Given the description of an element on the screen output the (x, y) to click on. 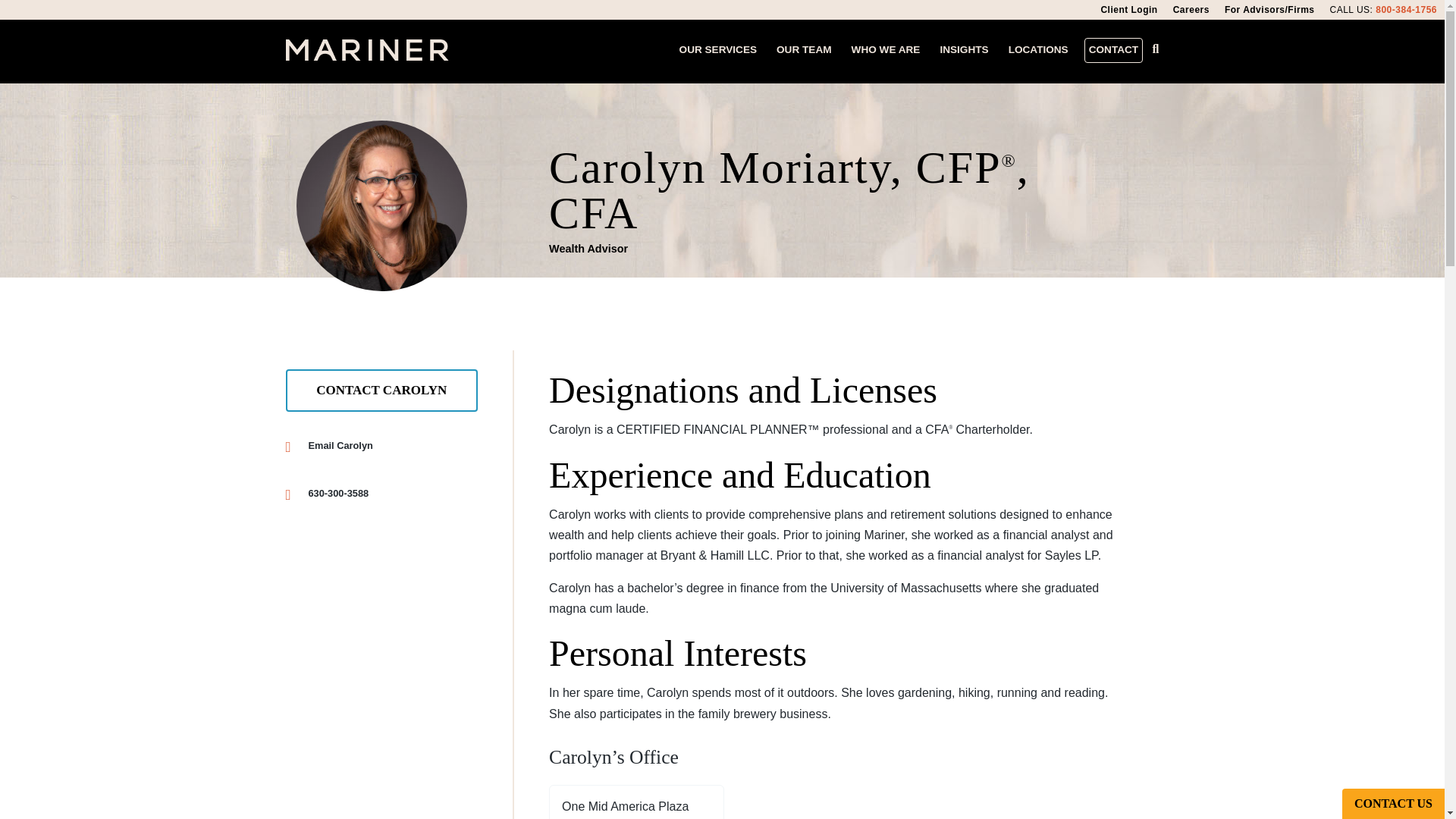
Email (636, 808)
LOCATIONS (301, 453)
CONTACT (1037, 49)
800-384-1756 (1113, 49)
Call (1406, 9)
OUR SERVICES (301, 501)
CALL US: (717, 49)
OUR TEAM (1351, 9)
WHO WE ARE (804, 49)
630-300-3588 (885, 49)
INSIGHTS (381, 493)
CONTACT CAROLYN (963, 49)
Client Login (381, 390)
Careers (1128, 9)
